Given the description of an element on the screen output the (x, y) to click on. 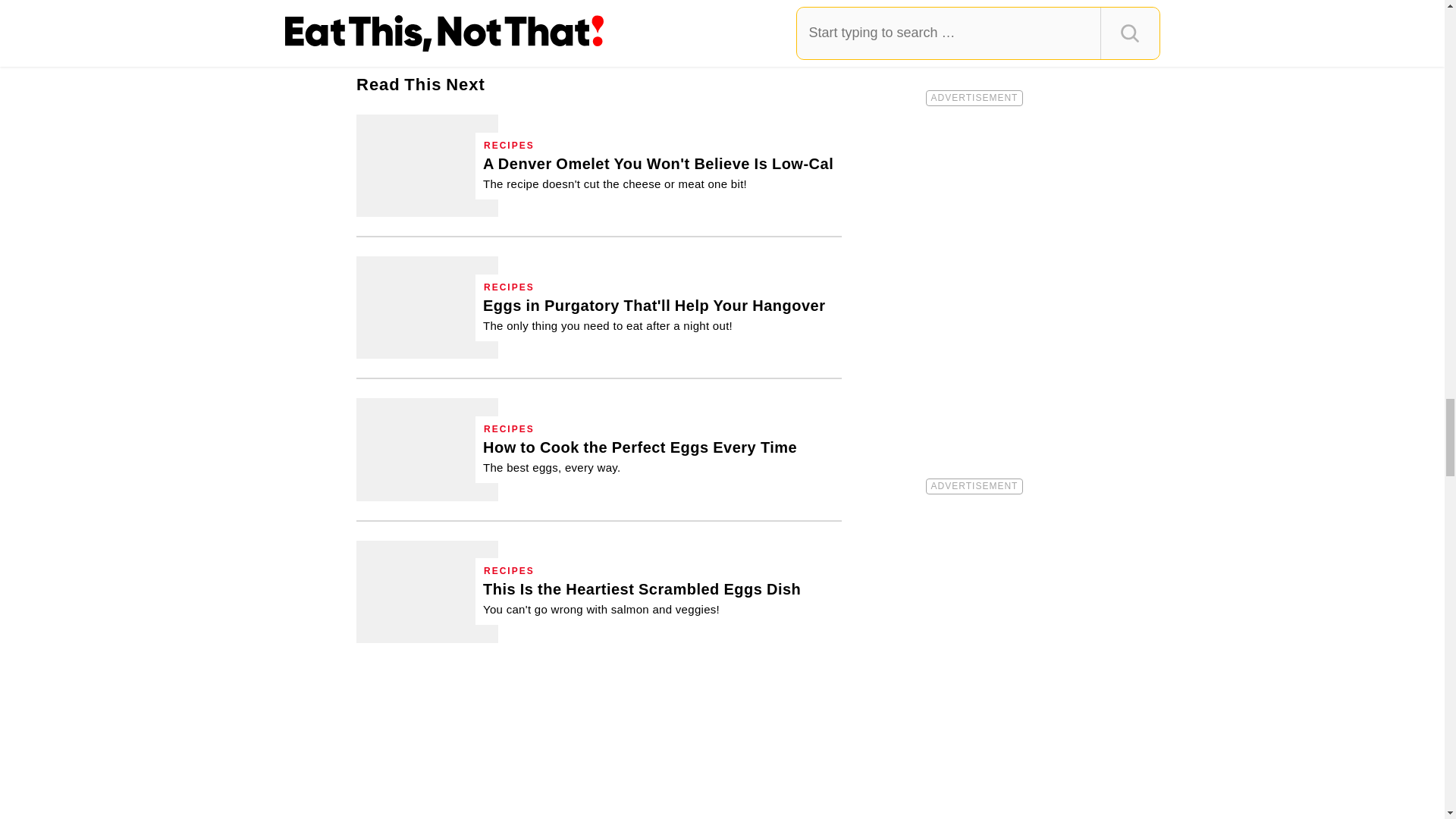
How to Cook the Perfect Eggs for Every Cooking Method (426, 449)
A Healthier Denver Omelet Recipe (657, 172)
A Healthier Denver Omelet Recipe (426, 165)
How to Cook the Perfect Eggs for Every Cooking Method (639, 456)
Eggs in Purgatory Recipe (654, 314)
Eggs in Purgatory Recipe (426, 307)
